Given the description of an element on the screen output the (x, y) to click on. 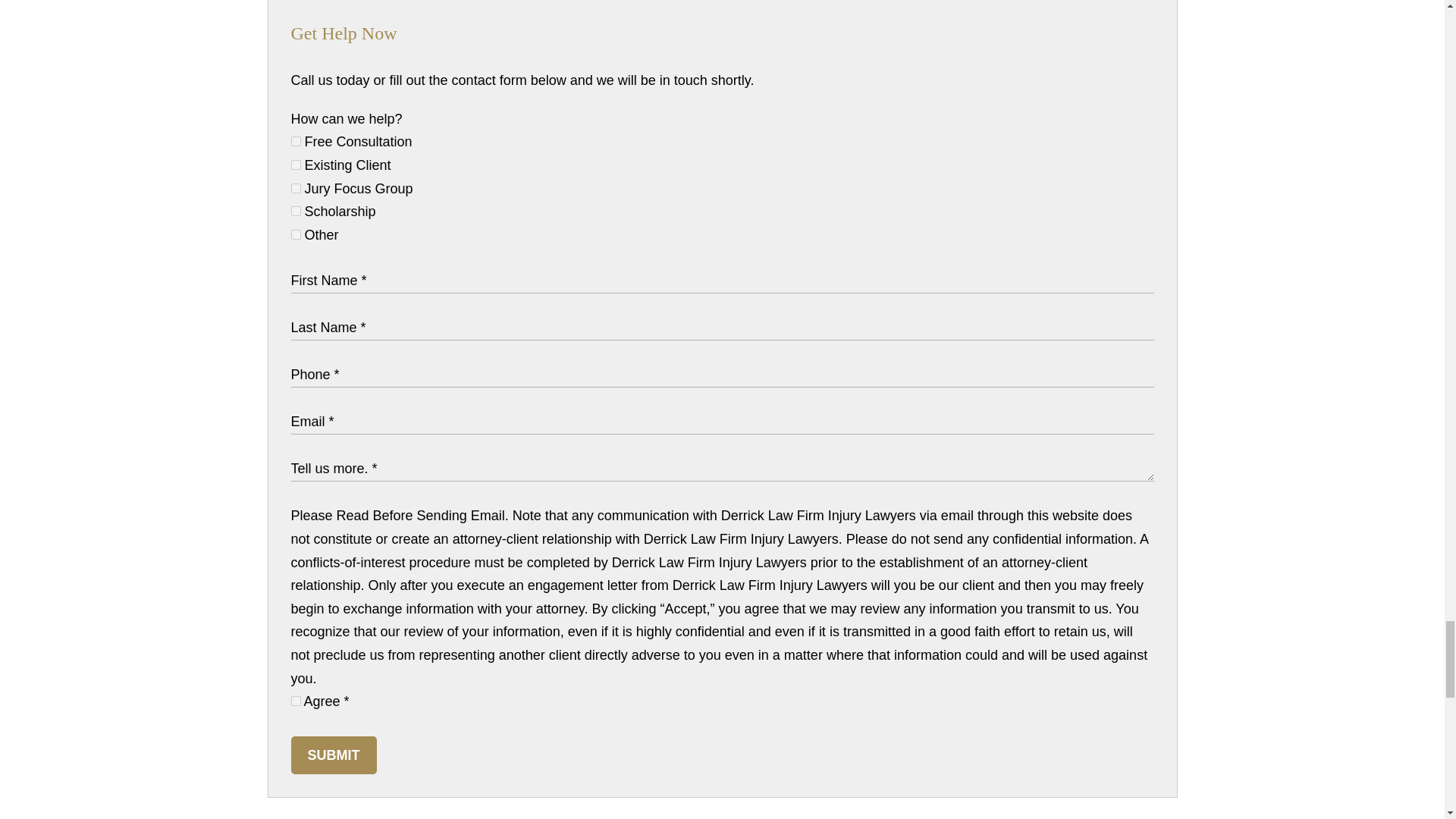
Existing Client (296, 164)
Agree (296, 700)
Other (296, 234)
Jury Focus Group (296, 188)
Scholarship (296, 211)
Free Consultation (296, 141)
